Given the description of an element on the screen output the (x, y) to click on. 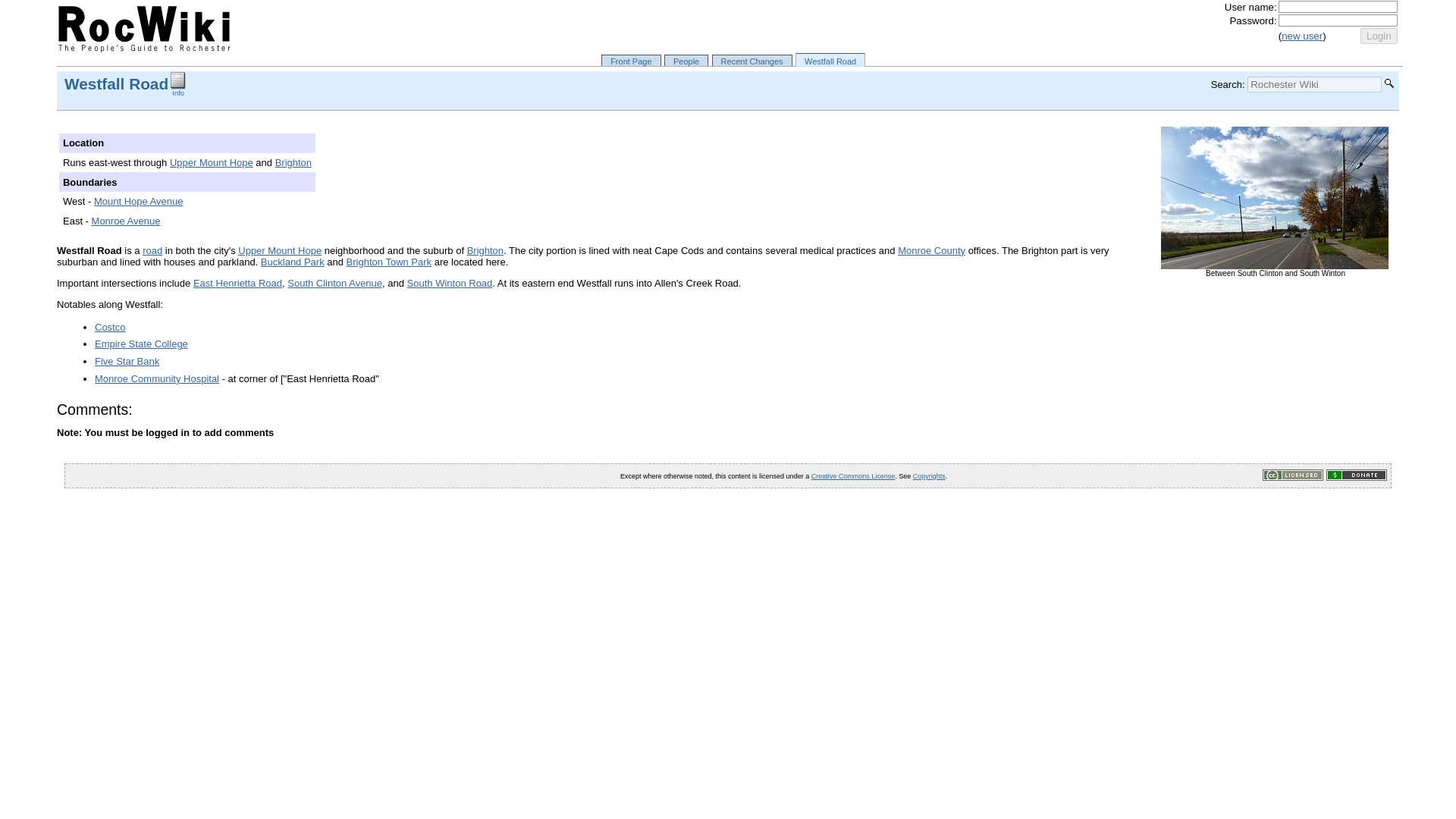
Monroe Community Hospital (156, 378)
road (151, 250)
Costco (109, 326)
Brighton (485, 250)
Routes (151, 250)
Buckland Park (292, 261)
Copyrights (928, 475)
Monroe Avenue (125, 220)
Mount Hope Avenue (138, 201)
Empire State College (140, 343)
Creative Commons License (852, 475)
East Henrietta Road (237, 283)
Mount Hope Avenue (138, 201)
South Winton Road (450, 283)
Front Page (631, 60)
